Given the description of an element on the screen output the (x, y) to click on. 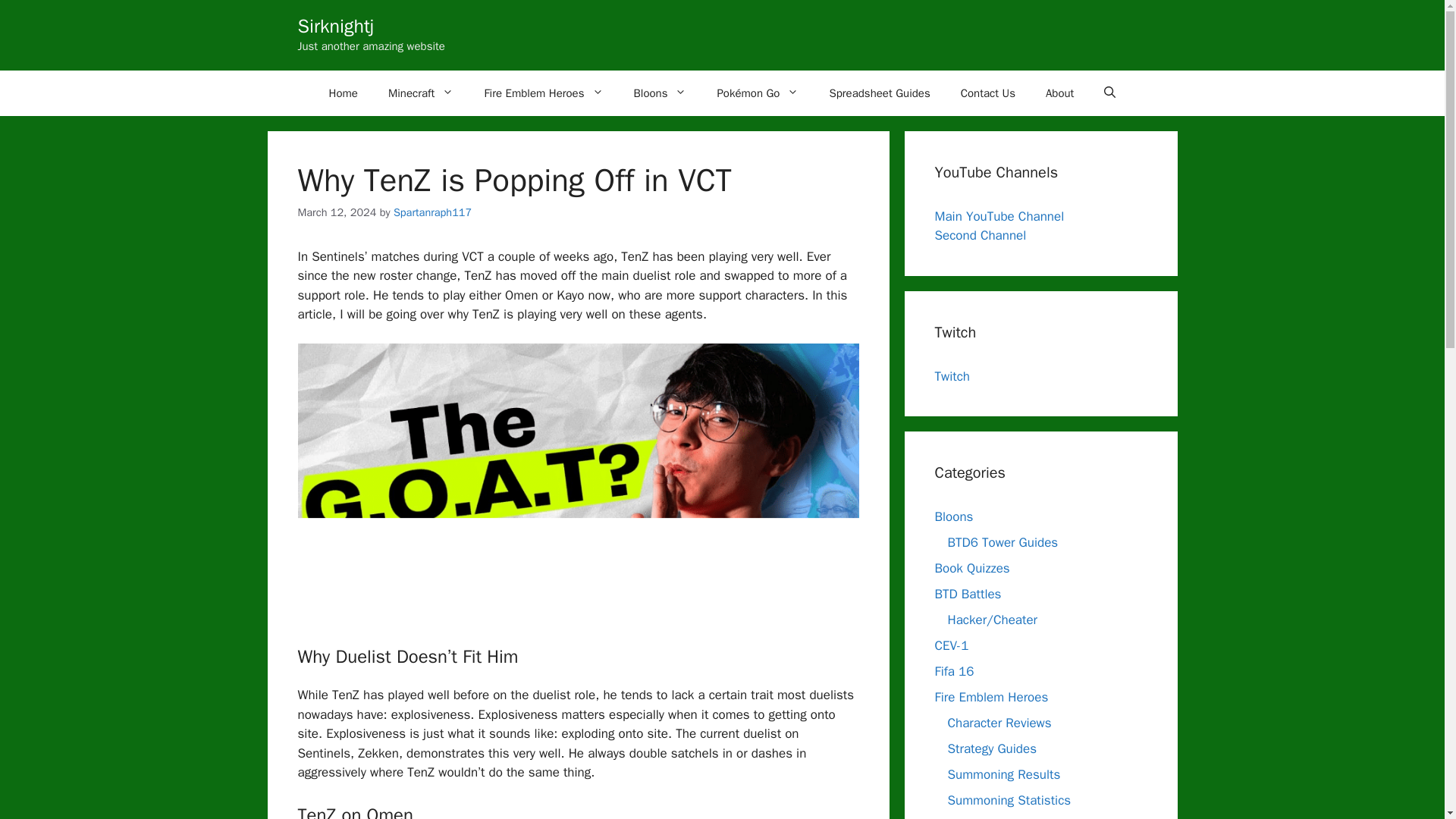
Bloons (659, 92)
Spreadsheet Guides (878, 92)
View all posts by Spartanraph117 (432, 212)
CEV-1 (951, 645)
Character Reviews (999, 722)
Spartanraph117 (432, 212)
BTD Battles (967, 593)
Main YouTube Channel (999, 215)
Sirknightj (335, 25)
Home (343, 92)
